Given the description of an element on the screen output the (x, y) to click on. 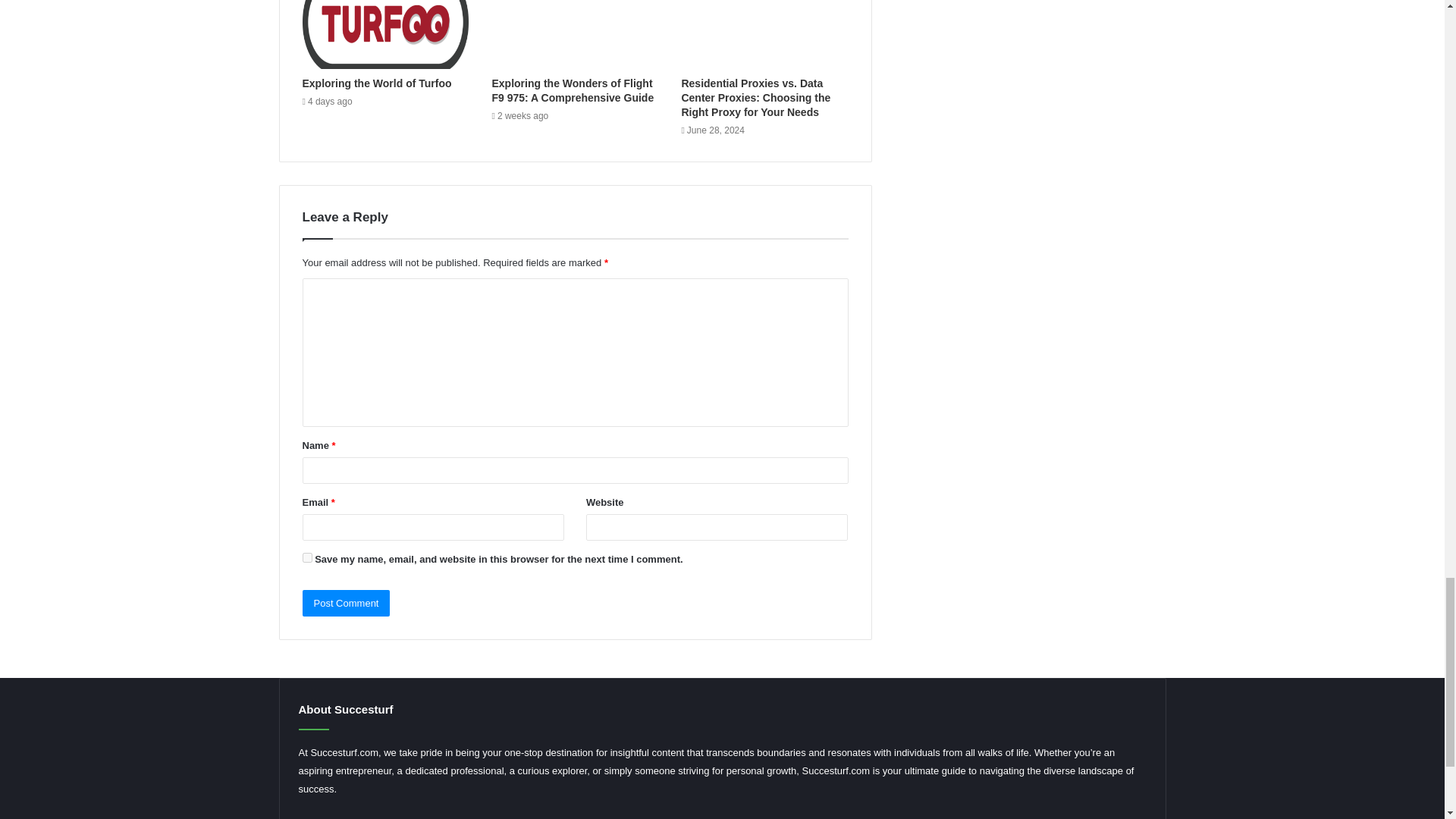
yes (306, 557)
Post Comment (345, 602)
